Given the description of an element on the screen output the (x, y) to click on. 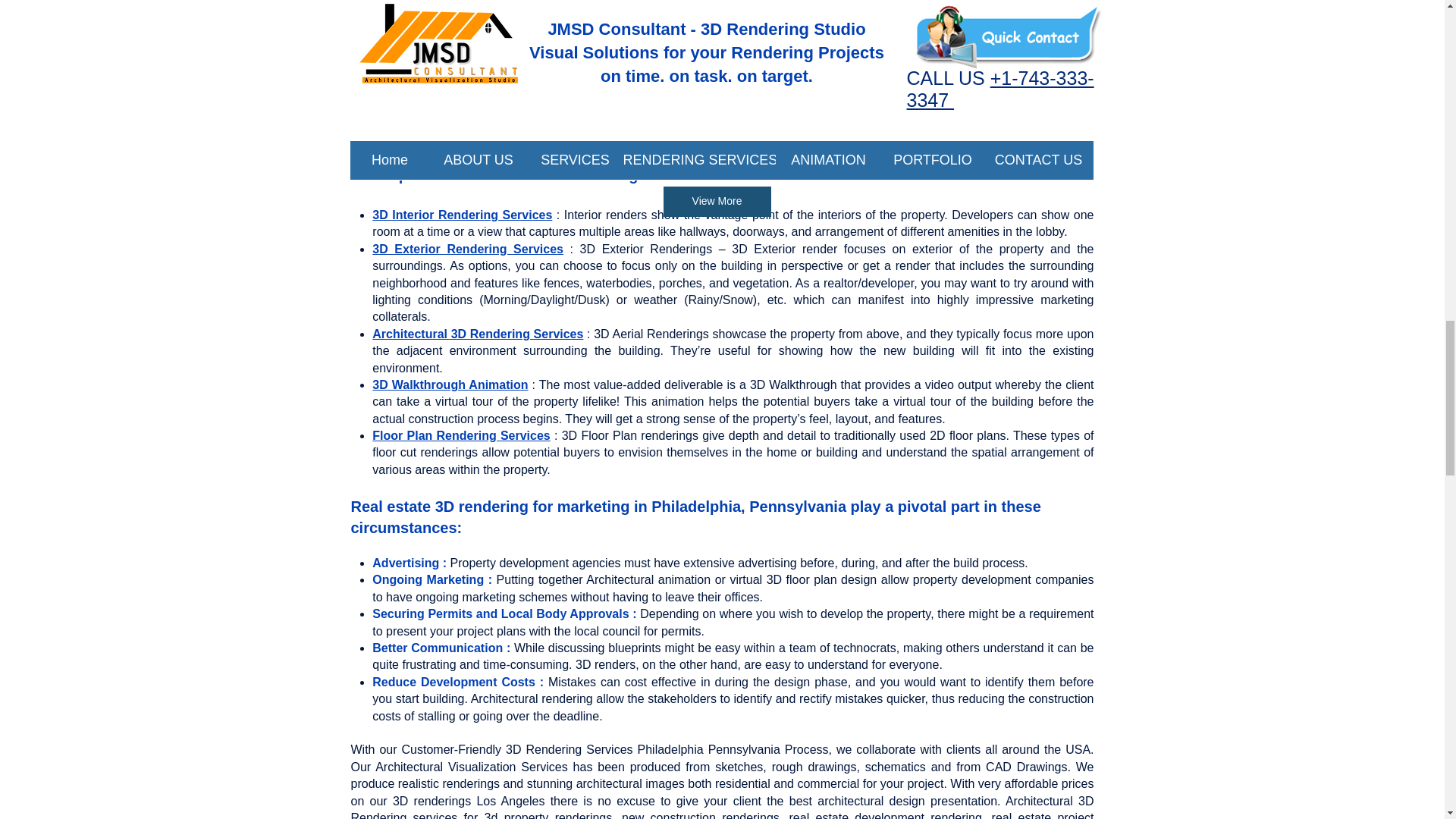
3D Walkthrough Animation (449, 384)
3D Interior Rendering Services (461, 214)
3D Exterior Rendering Services (467, 248)
Architectural 3D Rendering Services (477, 333)
Floor Plan Rendering Services (461, 435)
View More (716, 201)
